Given the description of an element on the screen output the (x, y) to click on. 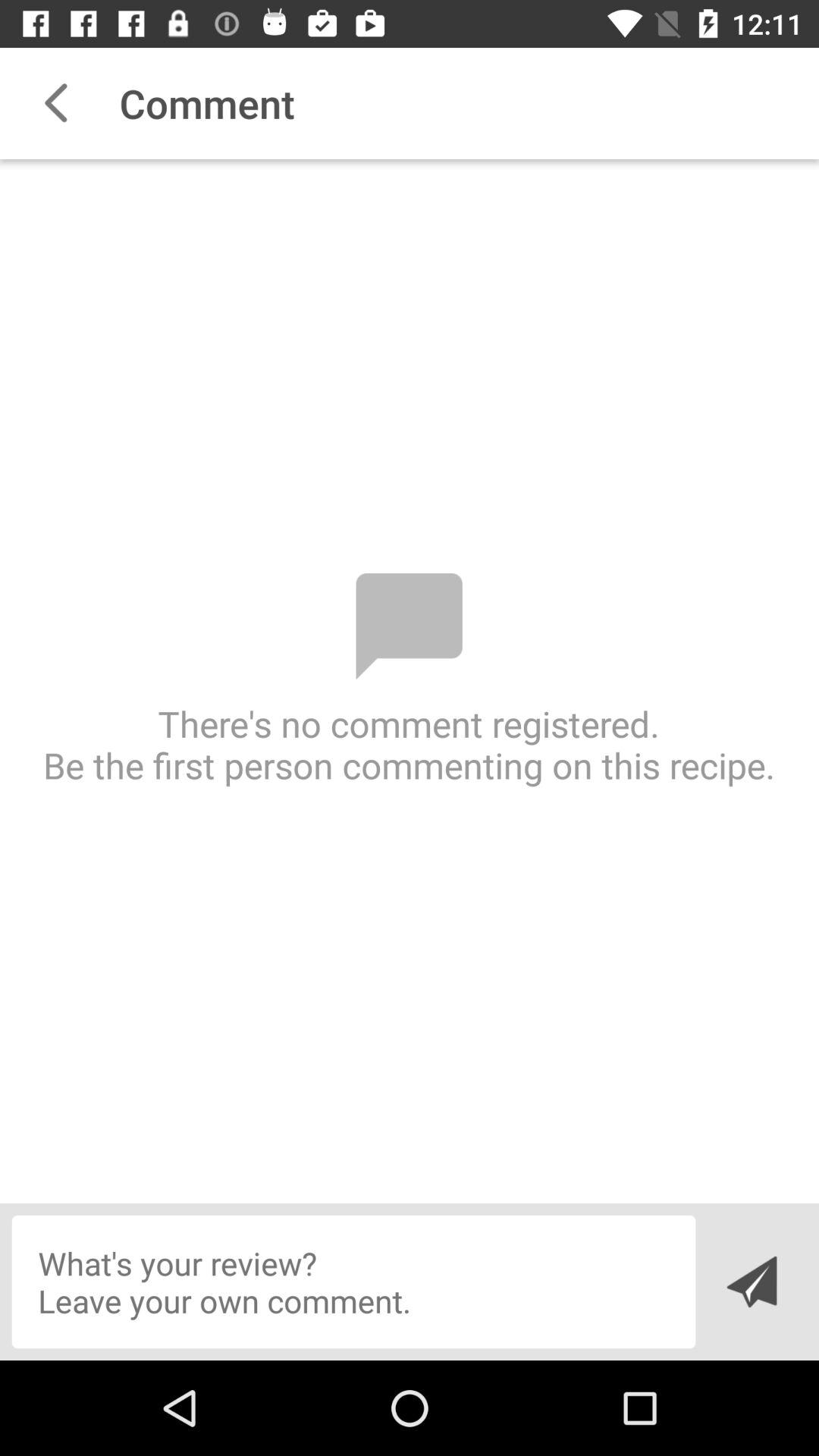
select icon next to comment app (55, 103)
